Given the description of an element on the screen output the (x, y) to click on. 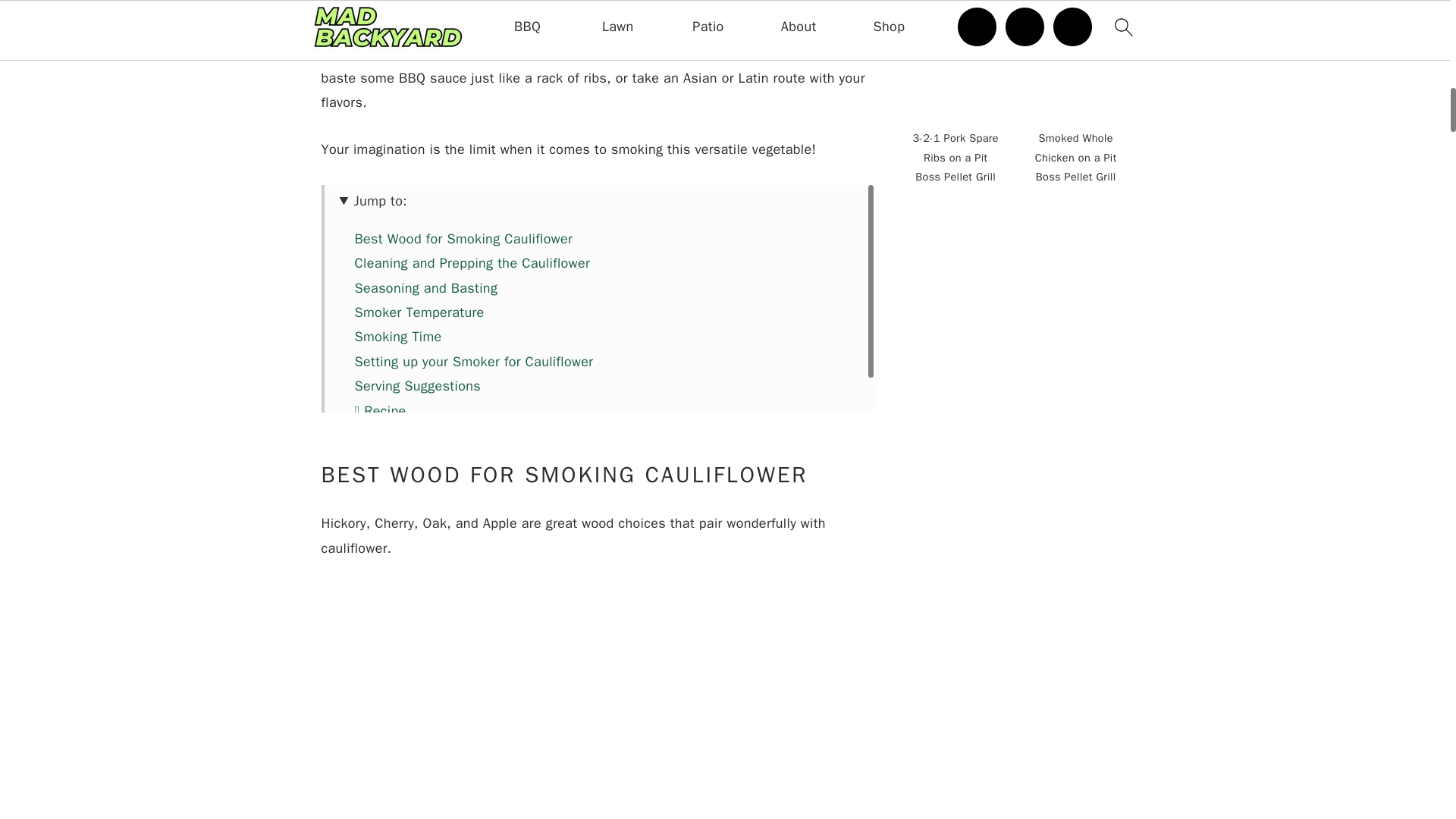
Best Wood for Smoking Cauliflower (464, 238)
